Given the description of an element on the screen output the (x, y) to click on. 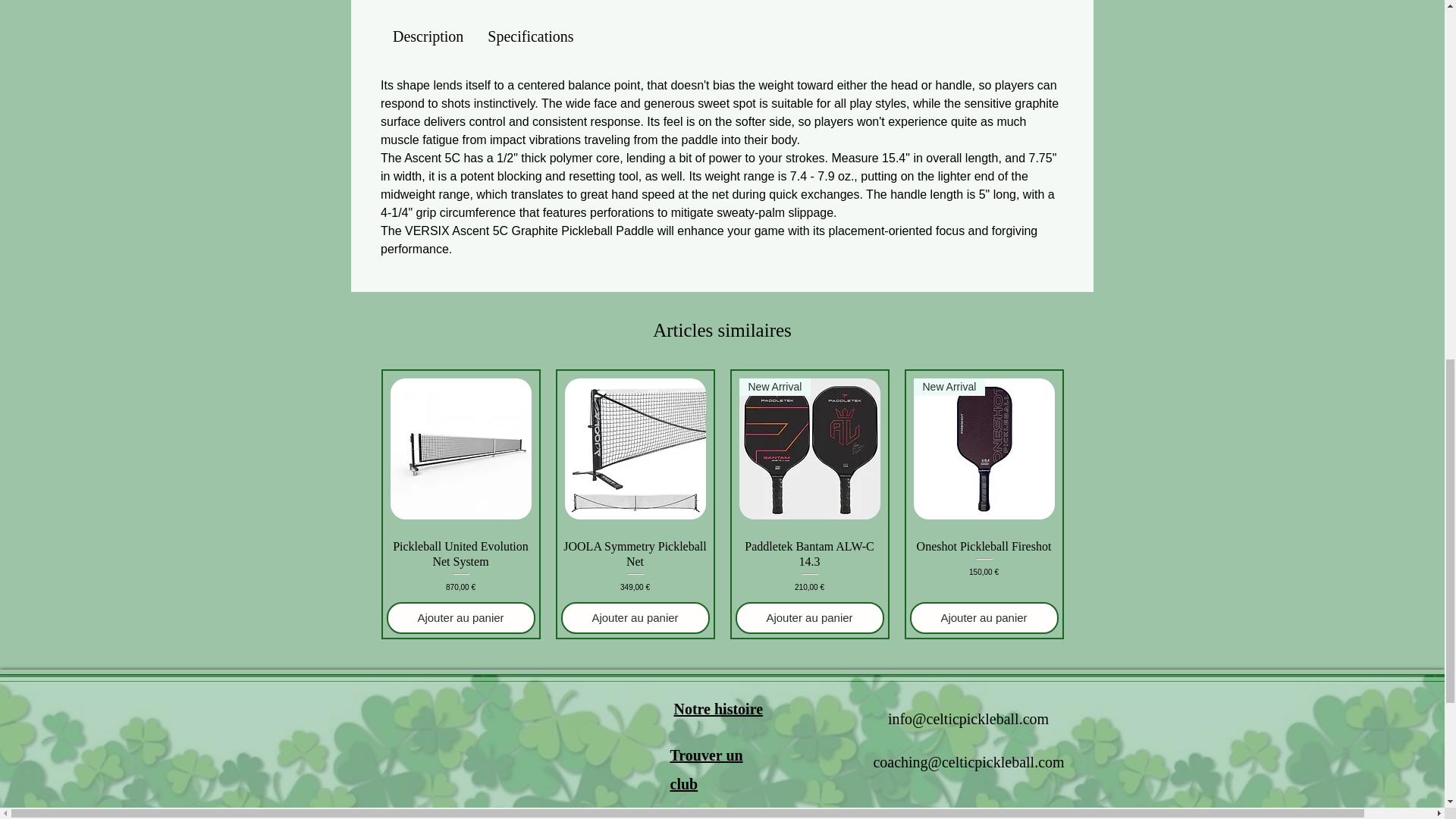
Ajouter au panier (461, 617)
